Given the description of an element on the screen output the (x, y) to click on. 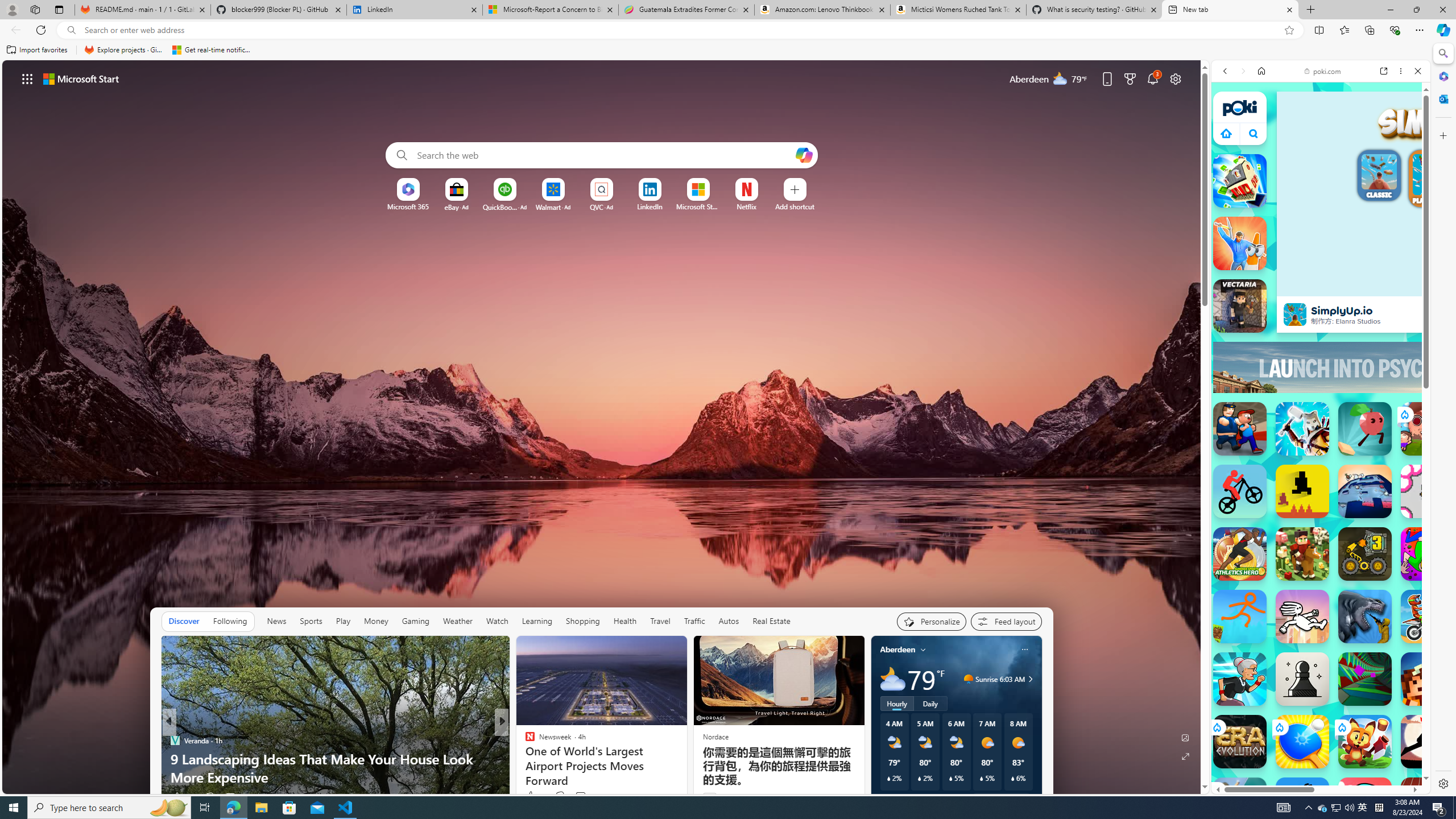
Mostly cloudy (892, 678)
Angry Gran Run Angry Gran Run (1239, 678)
Hemmings (524, 740)
129 Like (532, 796)
View comments 5 Comment (580, 797)
Classic Chess Classic Chess (1302, 678)
5 Like (529, 796)
Io Games (1320, 369)
